Given the description of an element on the screen output the (x, y) to click on. 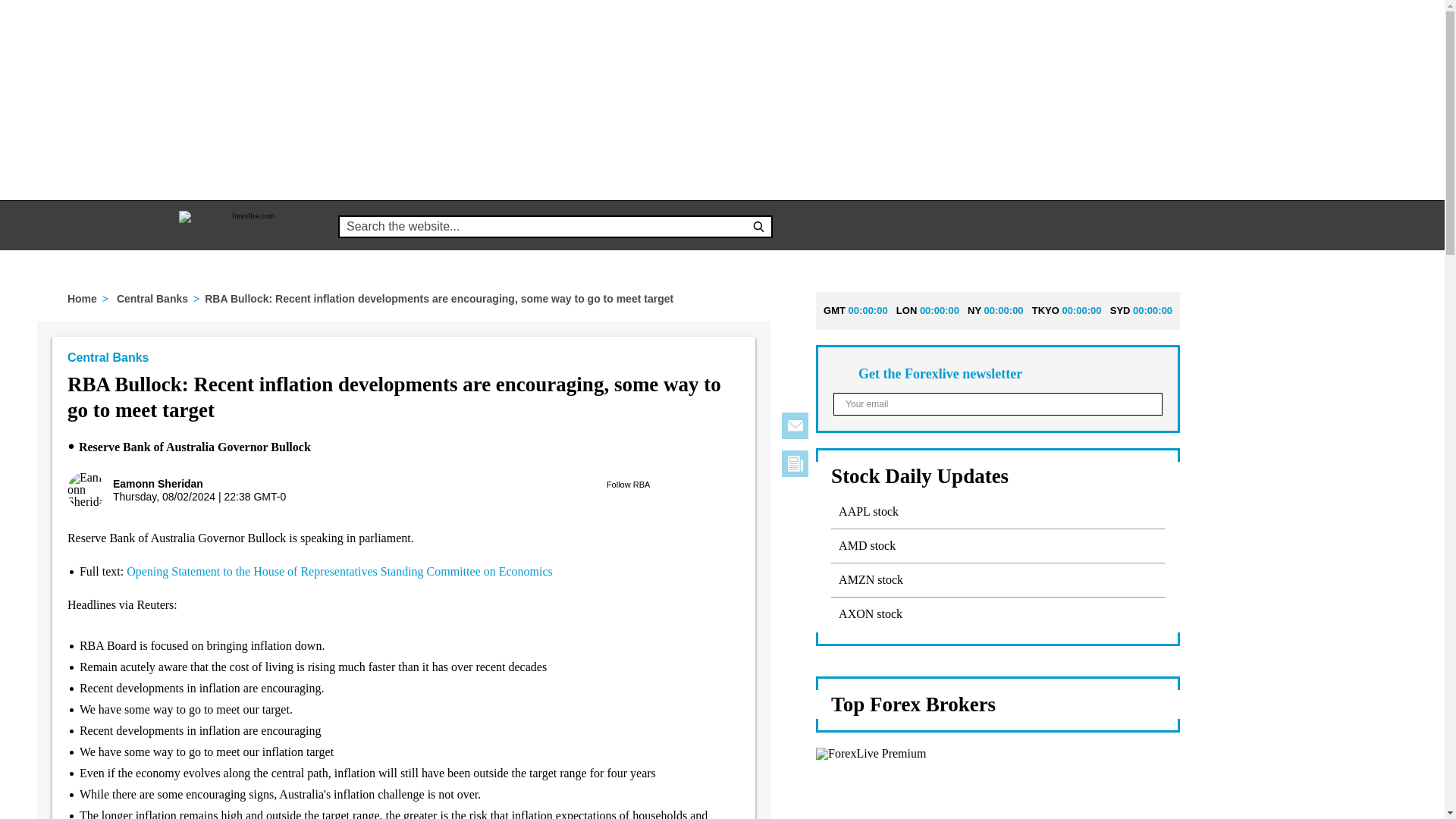
Follow RBA (628, 484)
